Given the description of an element on the screen output the (x, y) to click on. 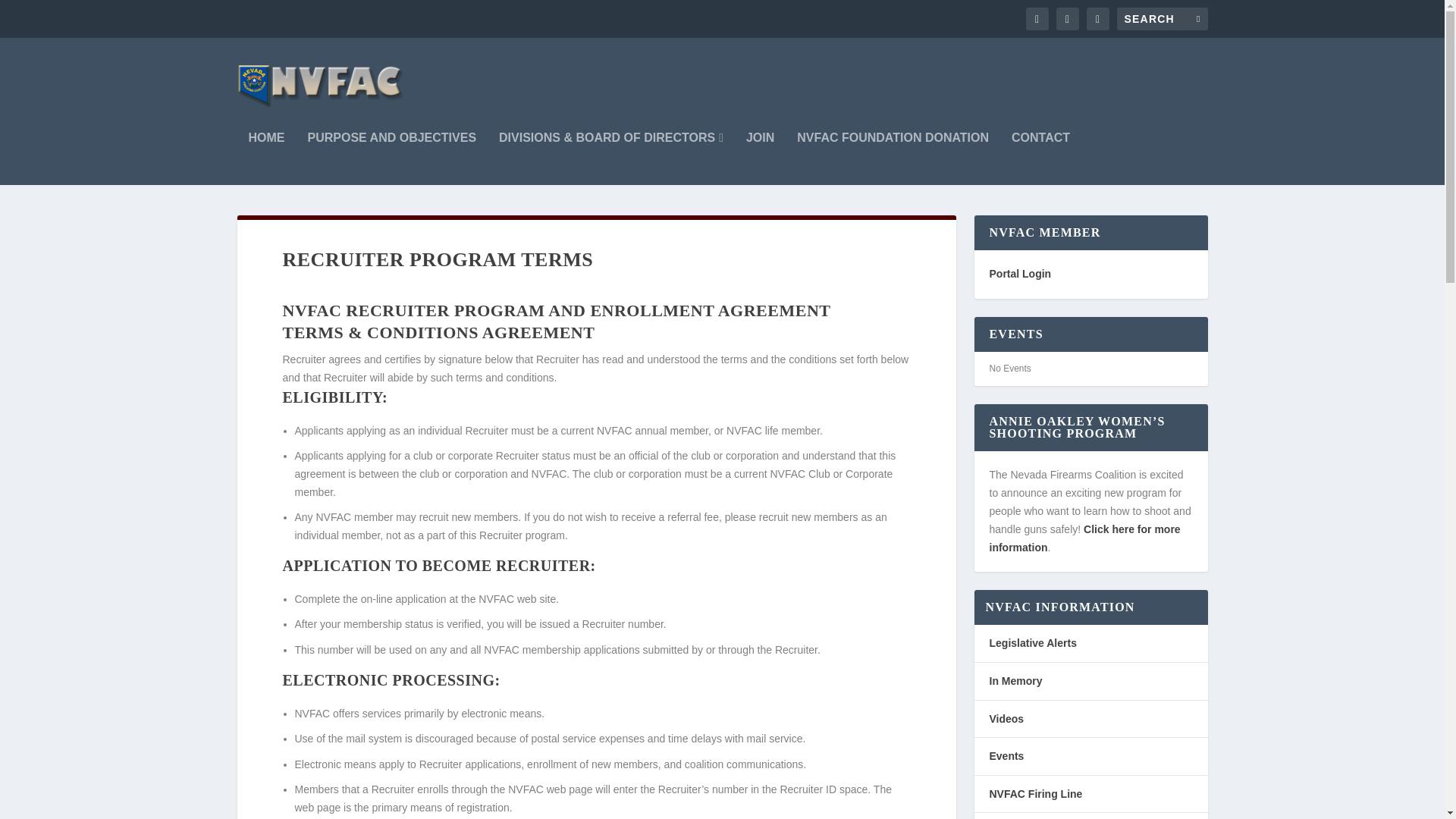
PURPOSE AND OBJECTIVES (392, 158)
CONTACT (1040, 158)
Click here for more information (1083, 538)
NVFAC FOUNDATION DONATION (892, 158)
Events (1005, 756)
Videos (1005, 718)
Portal Login (1019, 273)
Legislative Alerts (1031, 643)
In Memory (1015, 680)
NVFAC Firing Line (1034, 793)
